Given the description of an element on the screen output the (x, y) to click on. 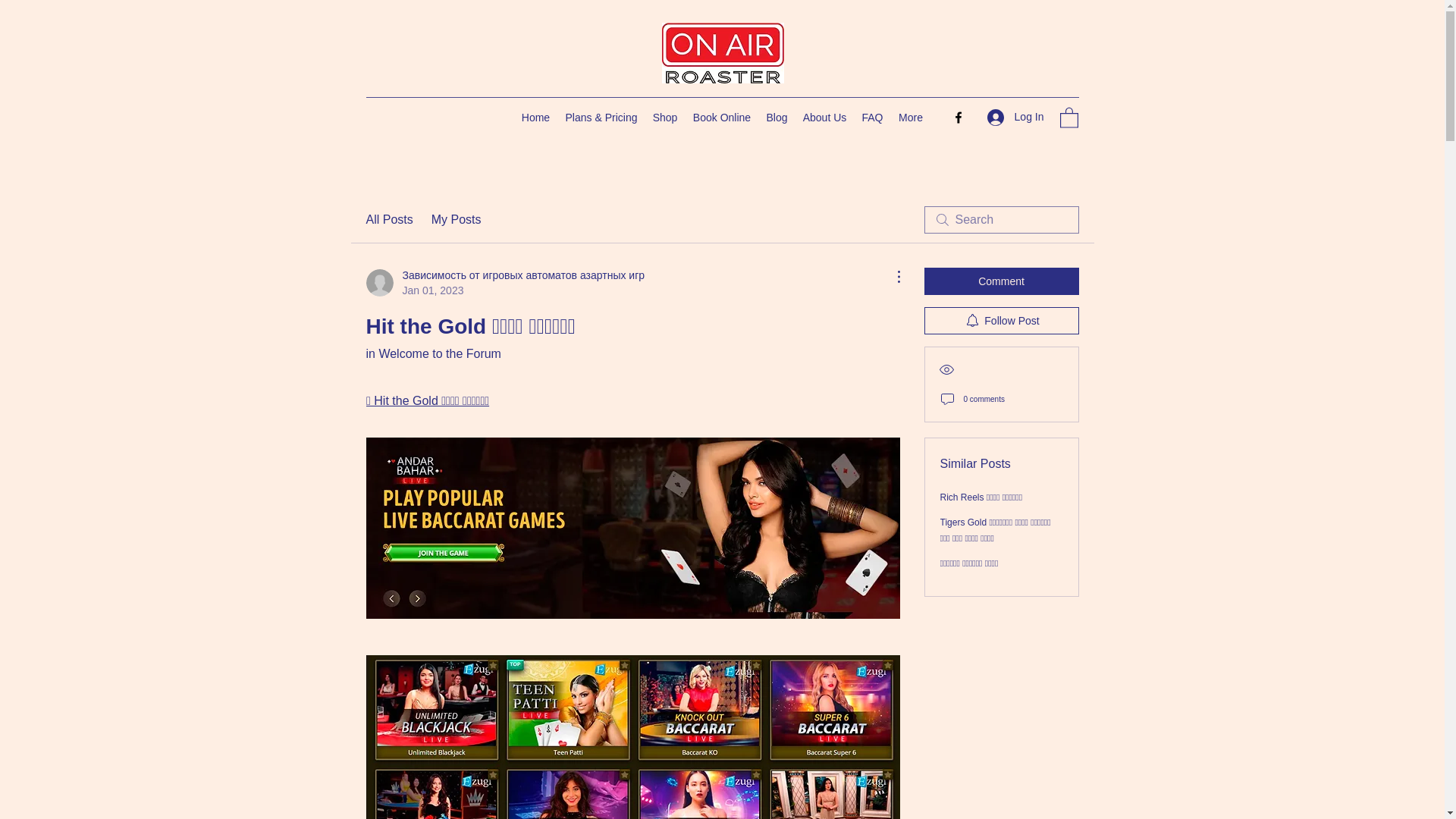
Log In (1015, 117)
Book Online (721, 117)
My Posts (455, 219)
About Us (823, 117)
FAQ (871, 117)
Comment (1000, 280)
in Welcome to the Forum (432, 353)
Shop (664, 117)
Blog (776, 117)
Home (535, 117)
